Given the description of an element on the screen output the (x, y) to click on. 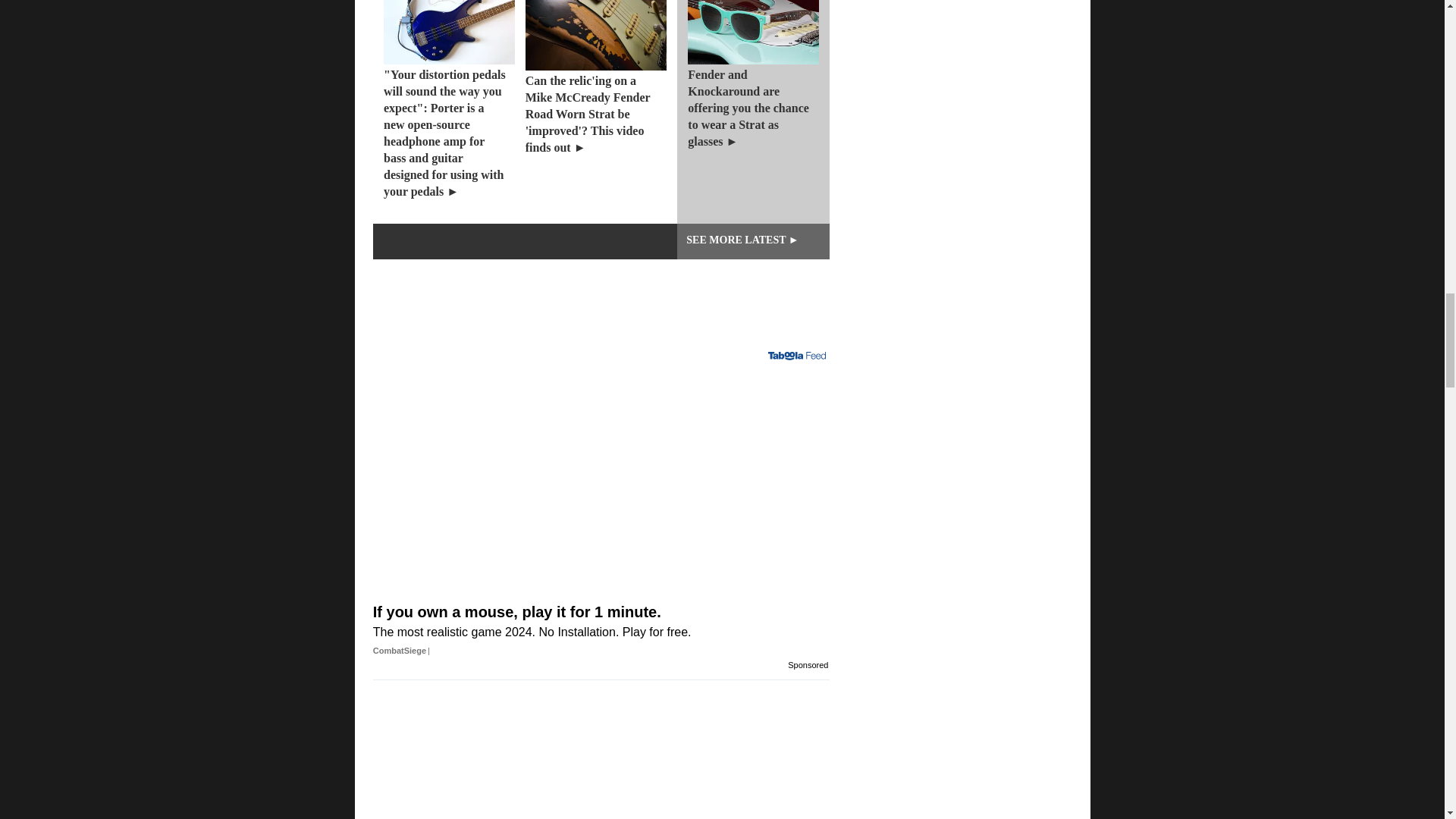
If you own a mouse, play it for 1 minute. (600, 455)
If you own a mouse, play it for 1 minute. (600, 601)
